Given the description of an element on the screen output the (x, y) to click on. 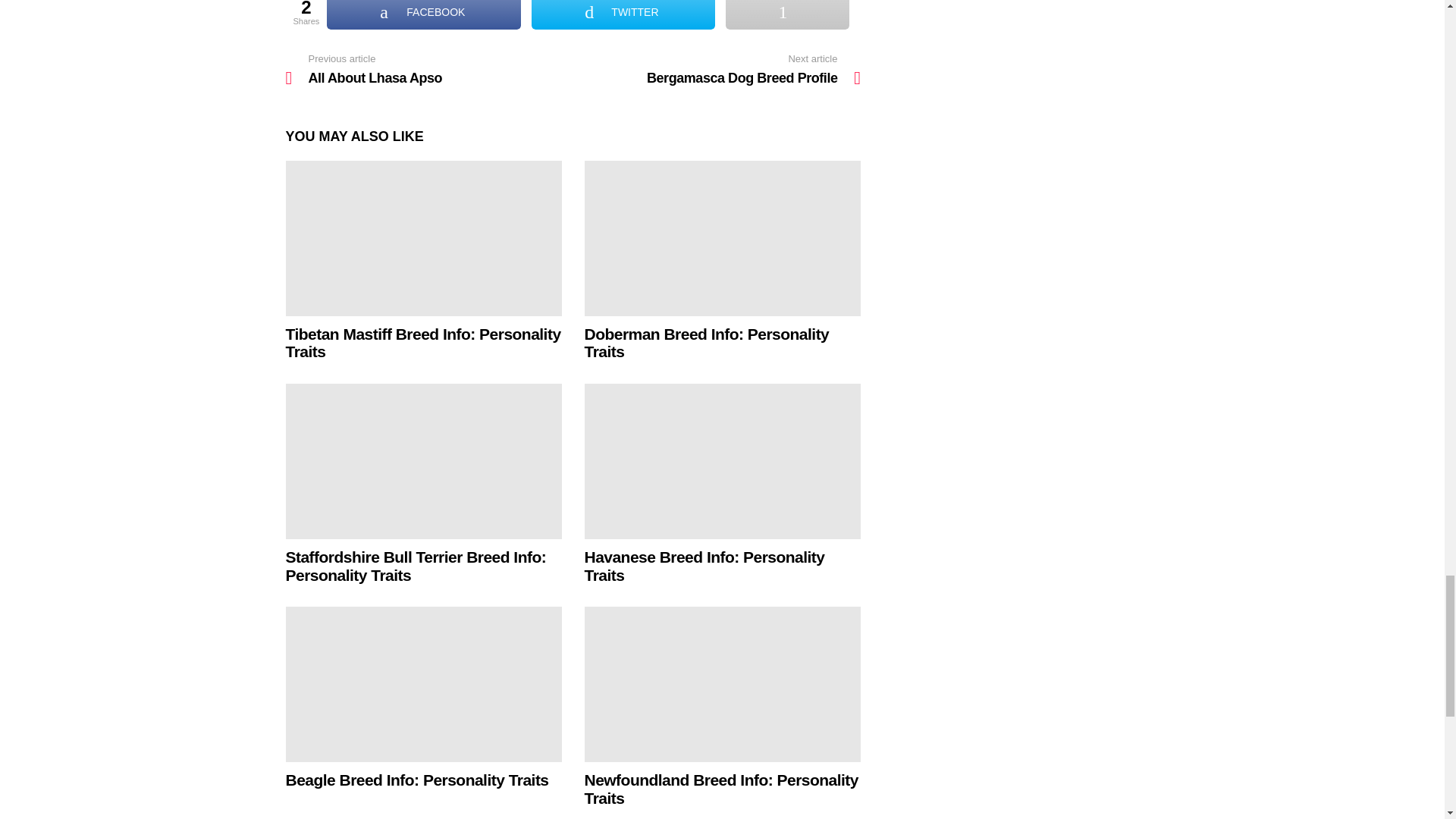
Share on More Button (787, 14)
Share on Twitter (622, 14)
Share on Facebook (423, 14)
